Given the description of an element on the screen output the (x, y) to click on. 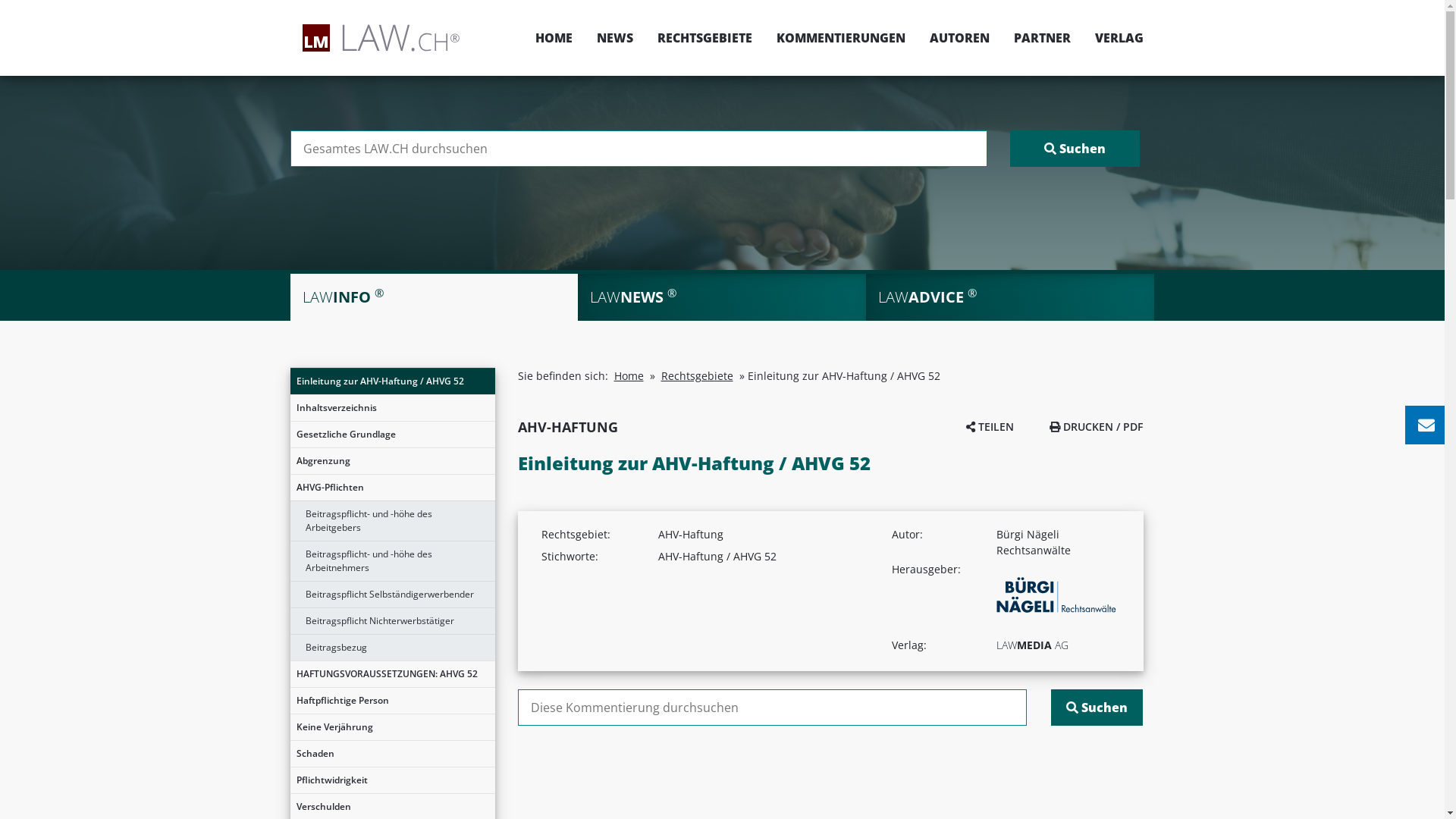
Inhaltsverzeichnis Element type: text (391, 407)
Suchen nach: Element type: hover (771, 707)
Gesetzliche Grundlage Element type: text (391, 434)
Beitragsbezug Element type: text (391, 647)
Home Element type: text (628, 375)
AUTOREN Element type: text (959, 37)
AHVG-Pflichten Element type: text (391, 487)
Einleitung zur AHV-Haftung / AHVG 52 Element type: text (391, 381)
Suchen nach: Element type: hover (637, 148)
NEWS Element type: text (613, 37)
 TEILEN Element type: text (989, 426)
RECHTSGEBIETE Element type: text (703, 37)
Haftpflichtige Person Element type: text (391, 700)
VERLAG Element type: text (1112, 37)
HOME Element type: text (553, 37)
Rechtsgebiete Element type: text (697, 375)
 DRUCKEN / PDF Element type: text (1095, 426)
HAFTUNGSVORAUSSETZUNGEN: AHVG 52 Element type: text (391, 674)
Abgrenzung Element type: text (391, 460)
KOMMENTIERUNGEN Element type: text (840, 37)
Pflichtwidrigkeit Element type: text (391, 780)
Schaden Element type: text (391, 753)
PARTNER Element type: text (1041, 37)
